Given the description of an element on the screen output the (x, y) to click on. 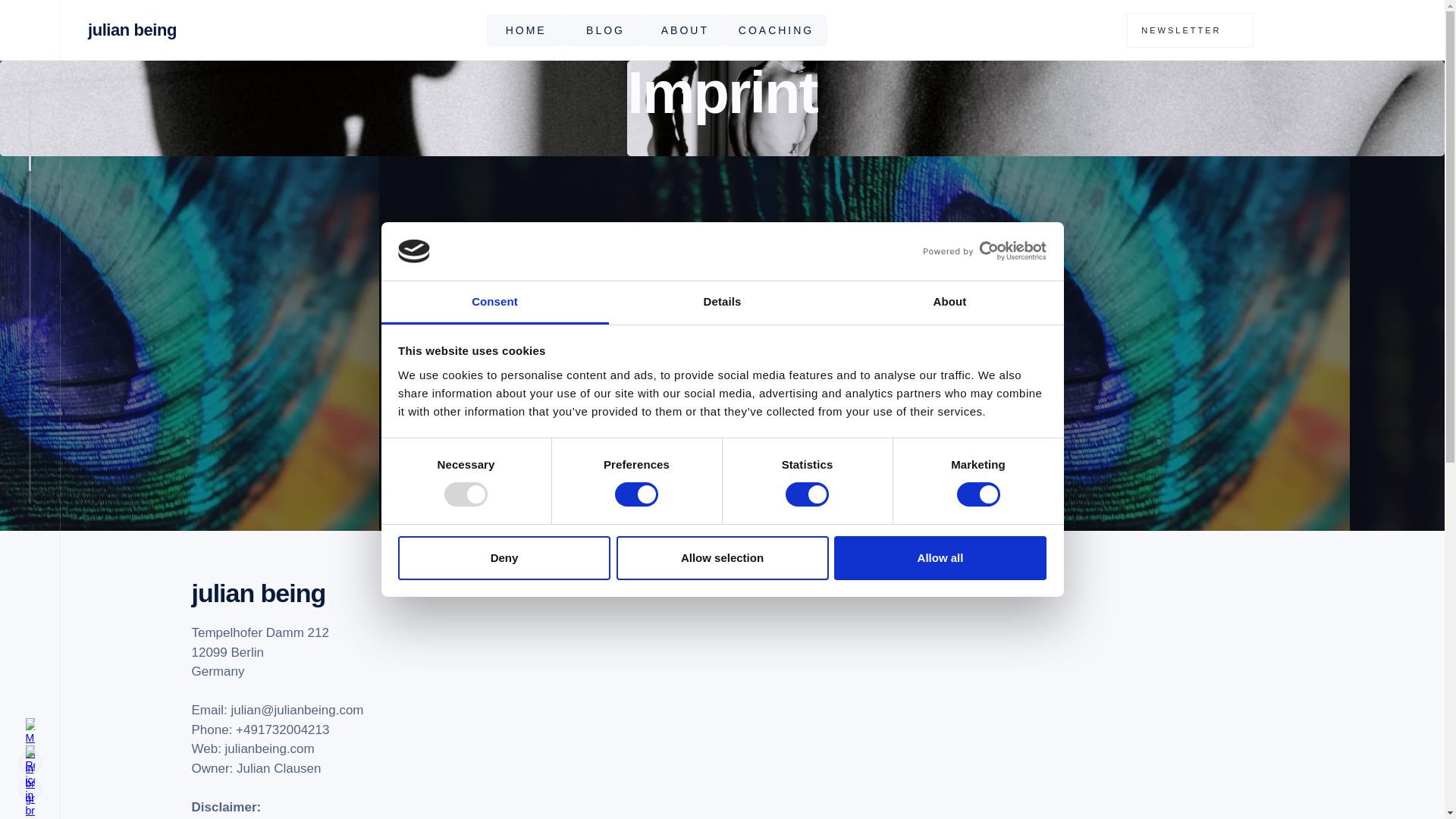
Details (721, 302)
Consent (494, 302)
About (948, 302)
